Given the description of an element on the screen output the (x, y) to click on. 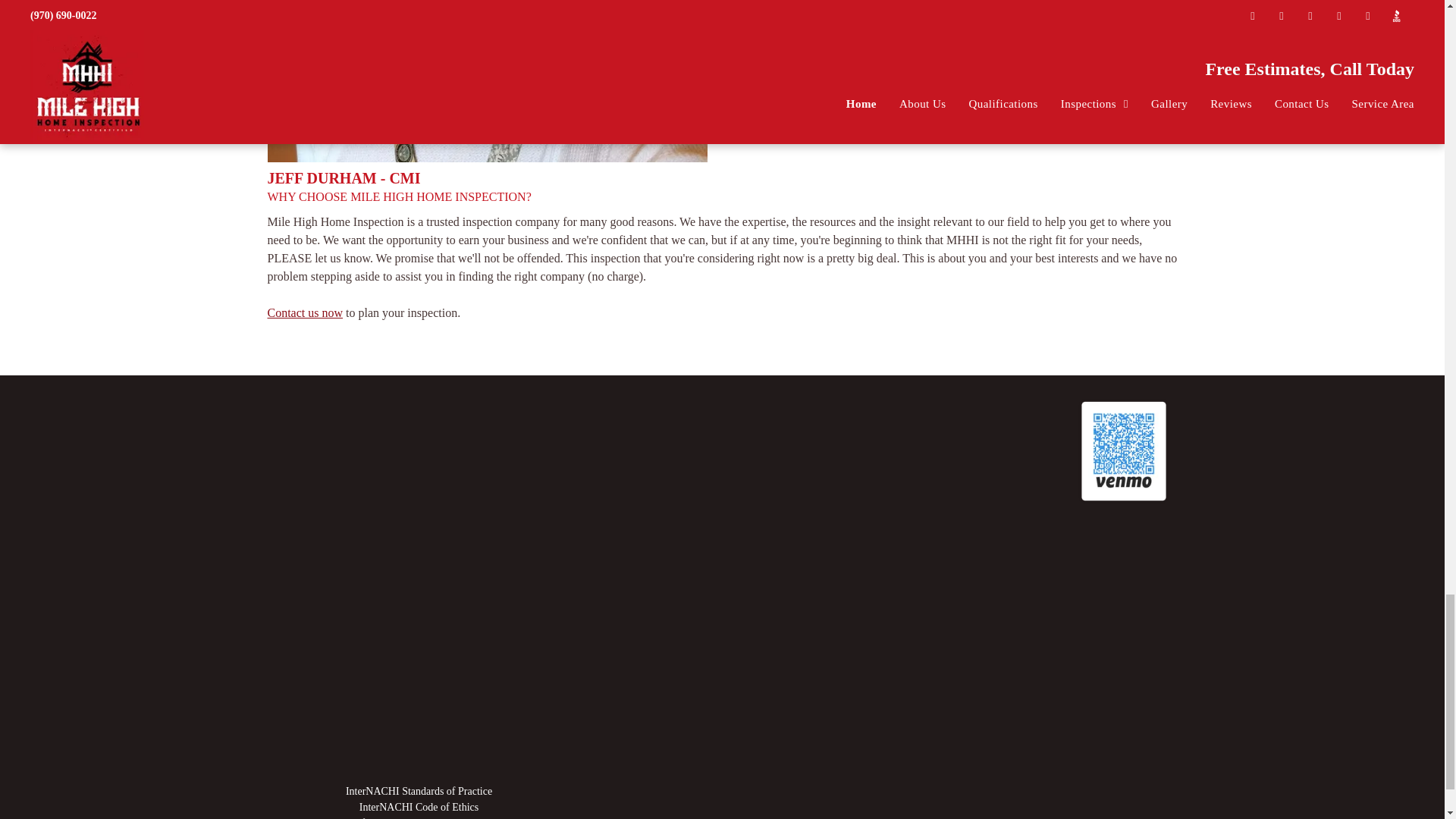
SUBMIT (826, 17)
